Given the description of an element on the screen output the (x, y) to click on. 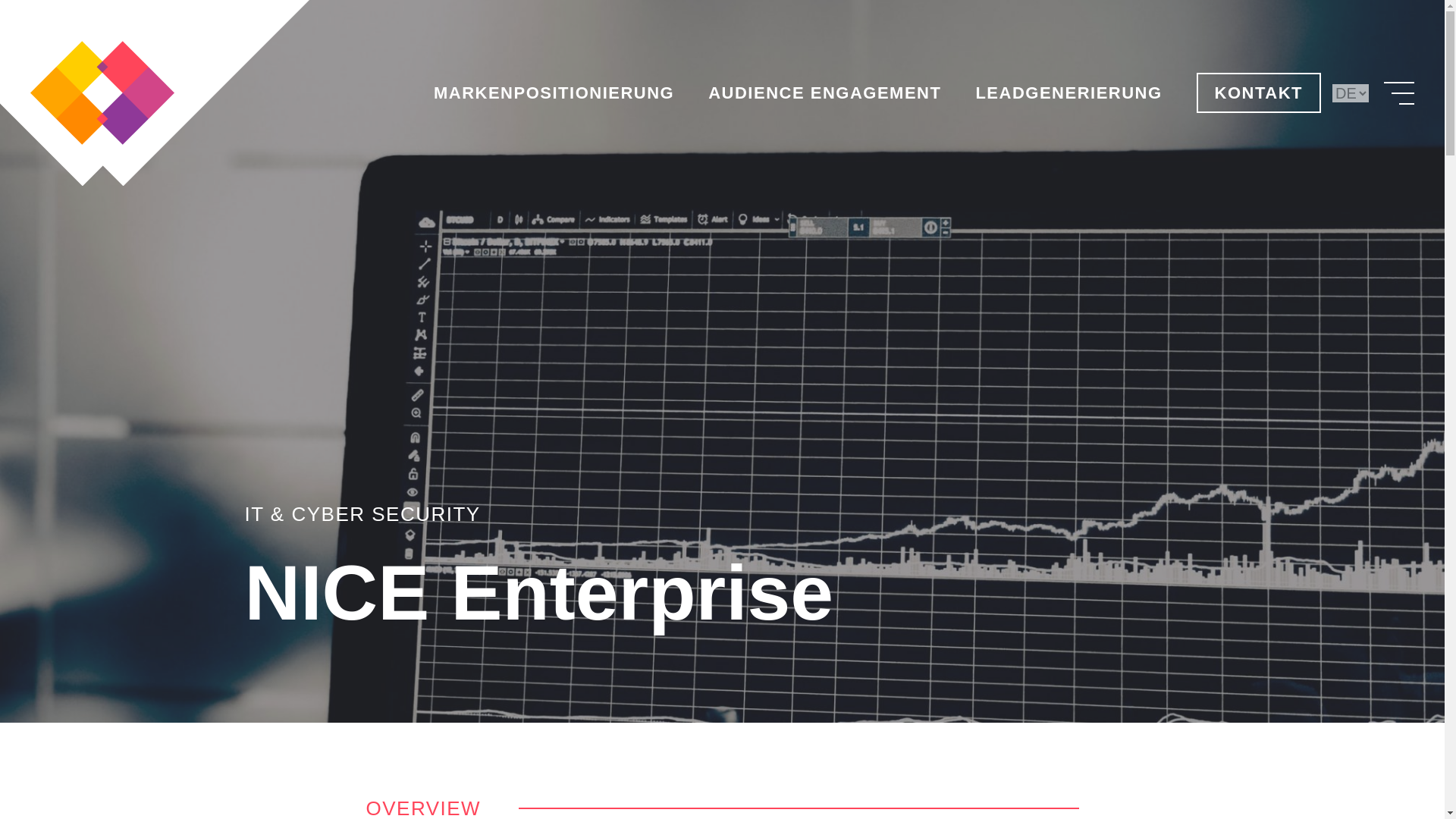
KONTAKT (1258, 92)
MARKENPOSITIONIERUNG (553, 93)
AUDIENCE ENGAGEMENT (823, 93)
LEADGENERIERUNG (1068, 93)
